Given the description of an element on the screen output the (x, y) to click on. 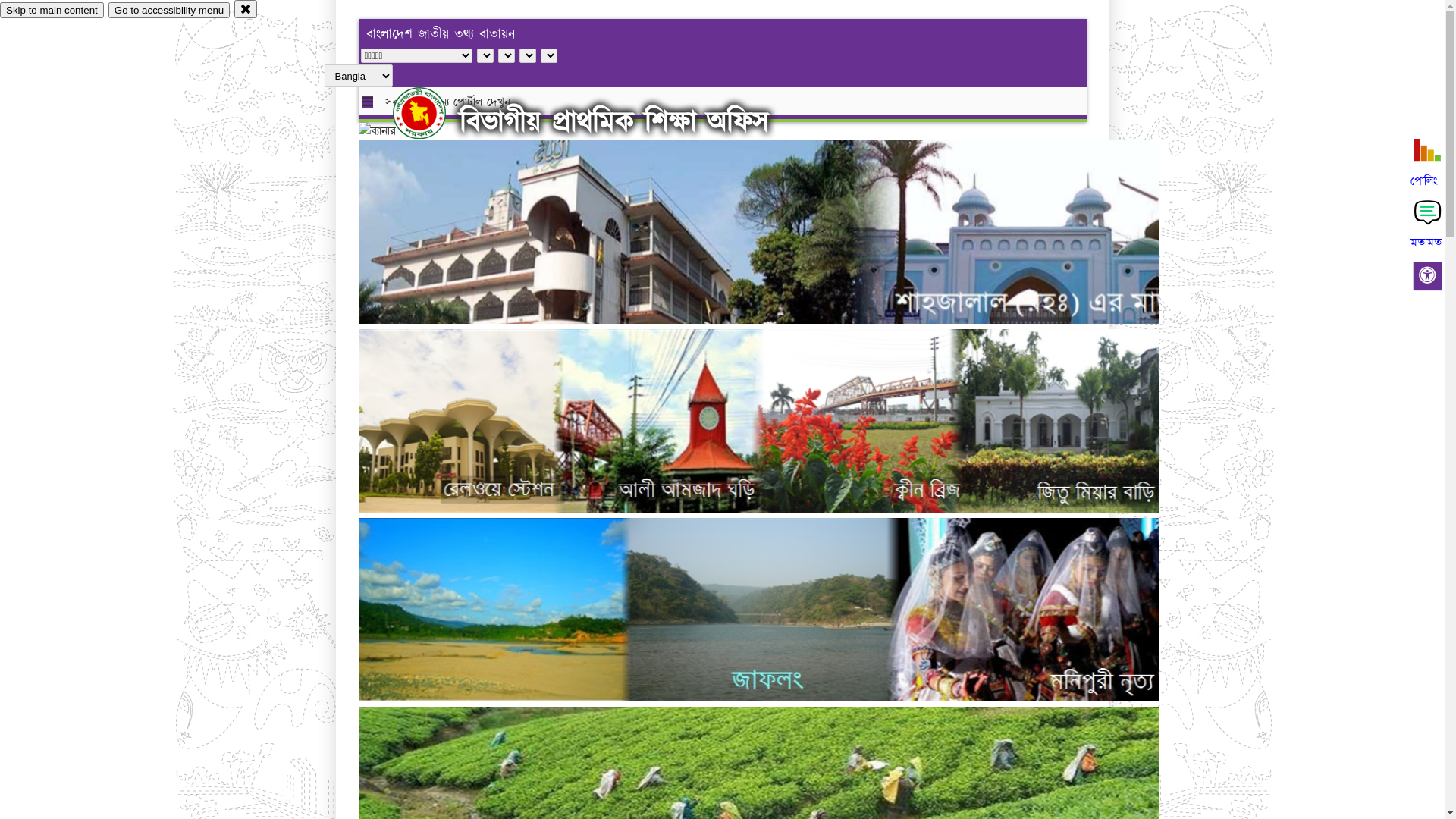
close Element type: hover (245, 9)

                
             Element type: hover (431, 112)
Skip to main content Element type: text (51, 10)
Go to accessibility menu Element type: text (168, 10)
